Given the description of an element on the screen output the (x, y) to click on. 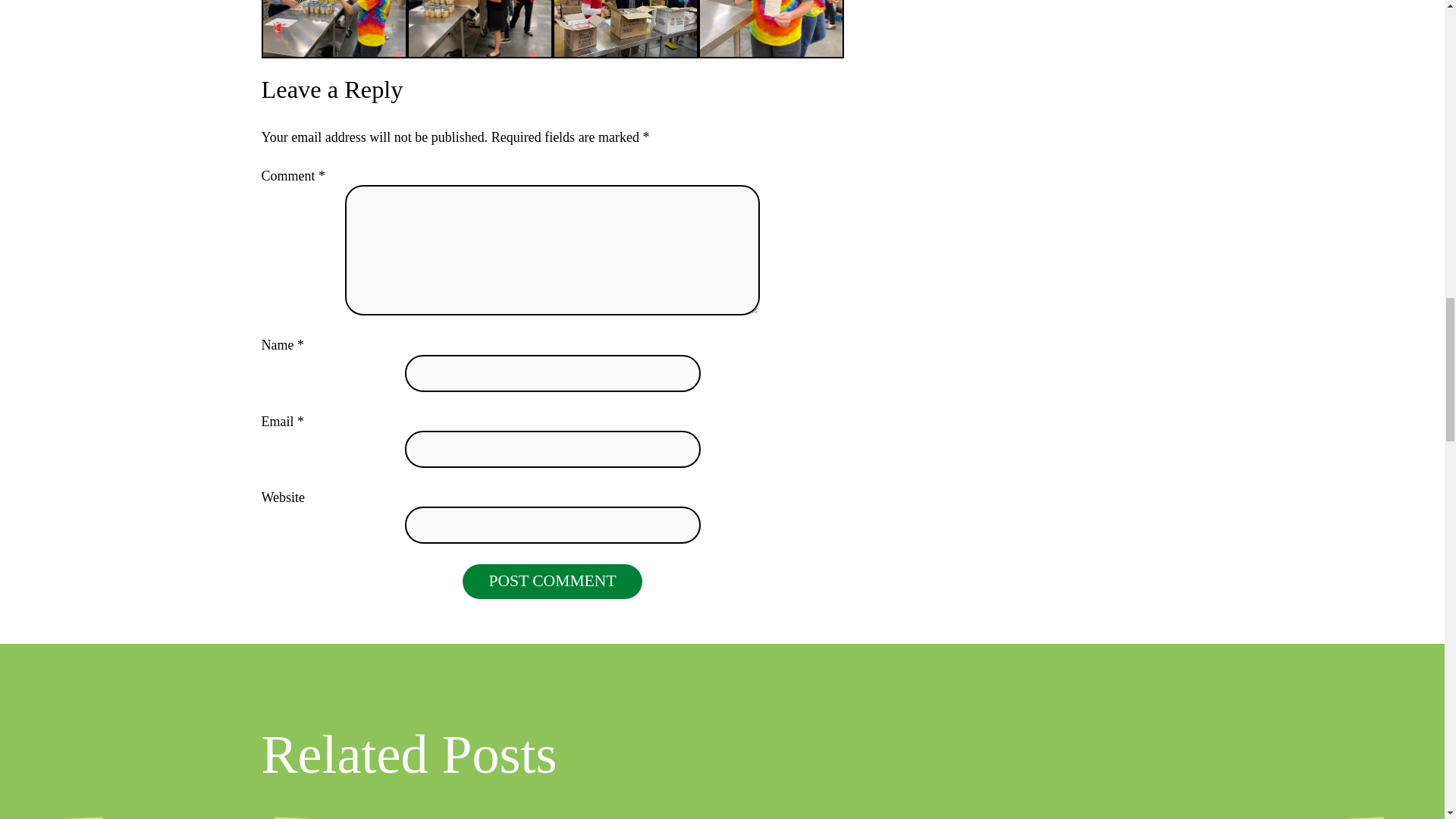
Post Comment (552, 581)
